Given the description of an element on the screen output the (x, y) to click on. 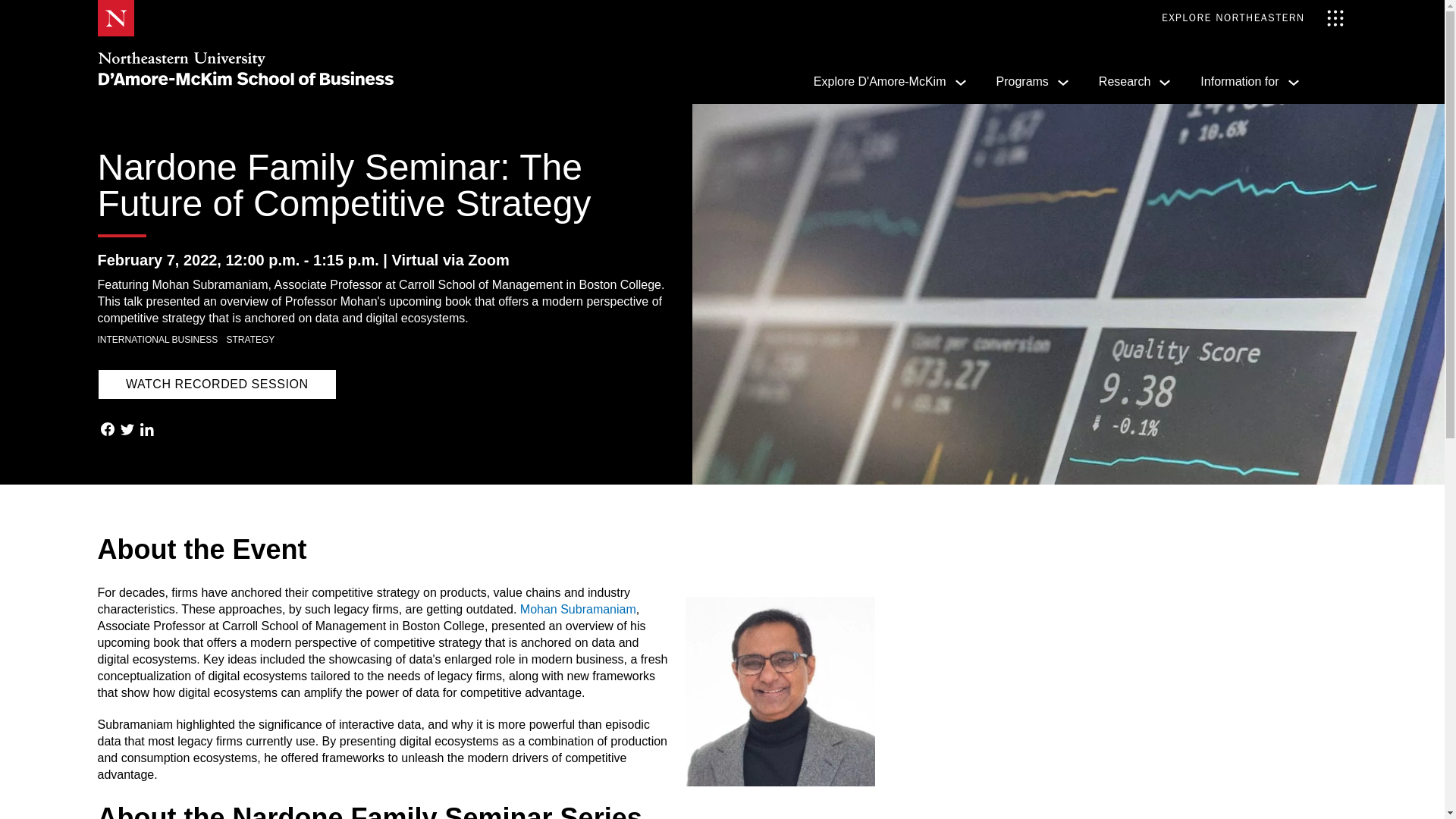
Explore D'Amore-McKim (889, 81)
LinkedIn (145, 430)
Twitter (126, 431)
Facebook (106, 430)
EXPLORE NORTHEASTERN (1253, 18)
Programs (1032, 81)
